Given the description of an element on the screen output the (x, y) to click on. 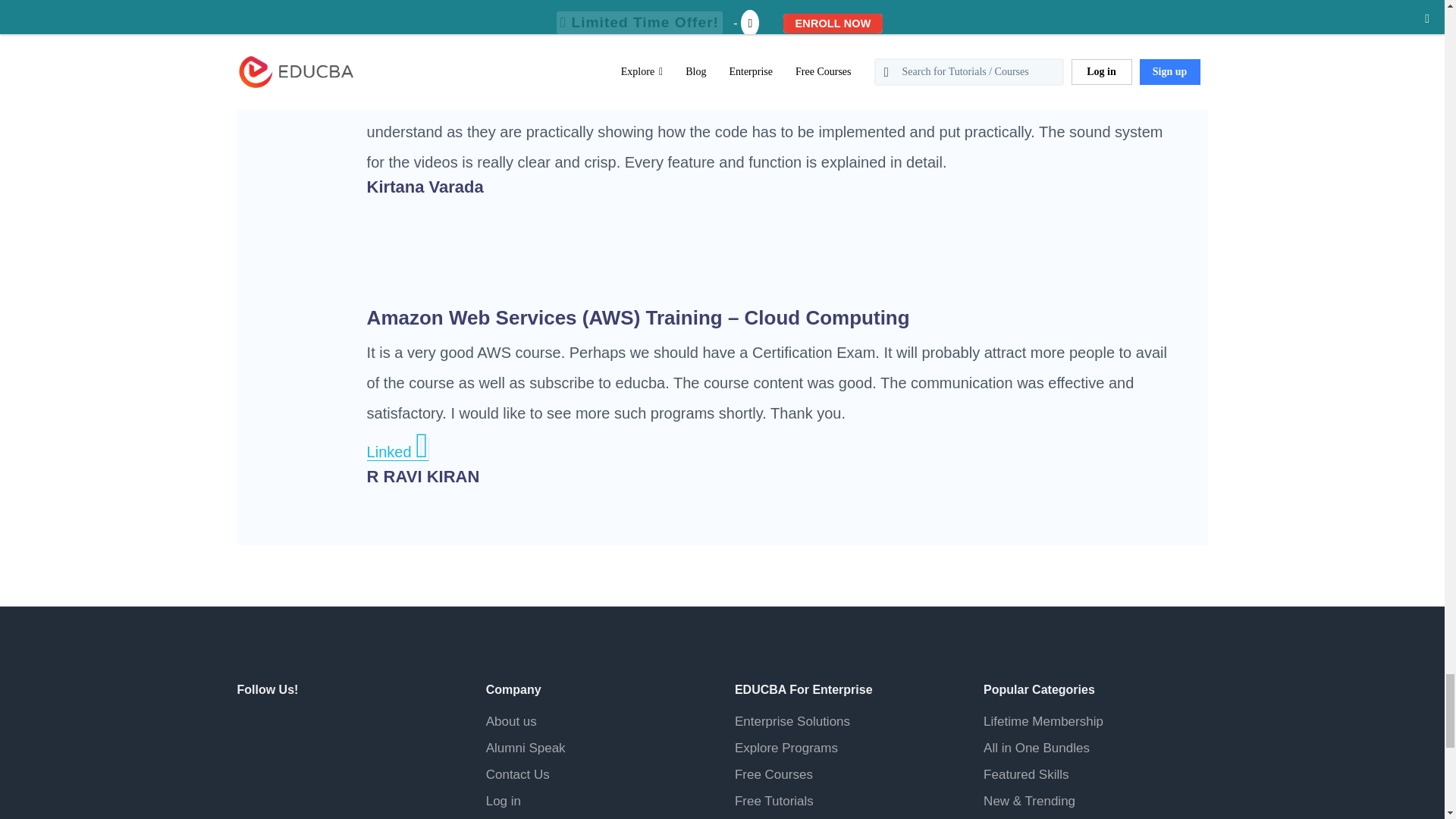
EDUCBA Facebook (250, 730)
EDUCBA Twitter (287, 730)
EDUCBA LinkedIN (322, 730)
EDUCBA Instagram (358, 730)
EDUCBA Coursera (287, 767)
EDUCBA Udemy (322, 767)
EDUCBA Youtube (250, 767)
